Given the description of an element on the screen output the (x, y) to click on. 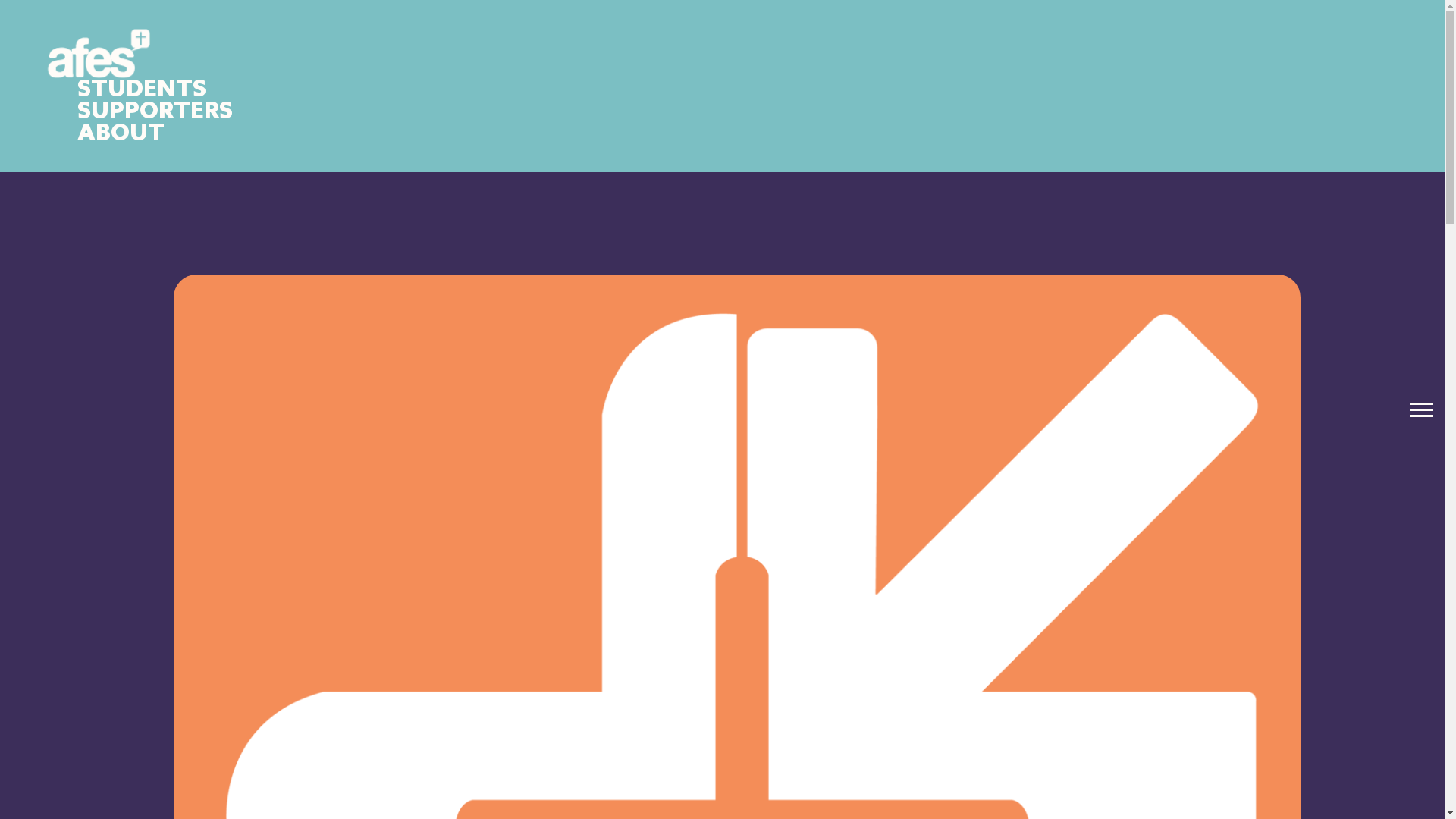
ABOUT Element type: text (120, 133)
SUPPORTERS Element type: text (154, 111)
STUDENTS Element type: text (141, 89)
